Given the description of an element on the screen output the (x, y) to click on. 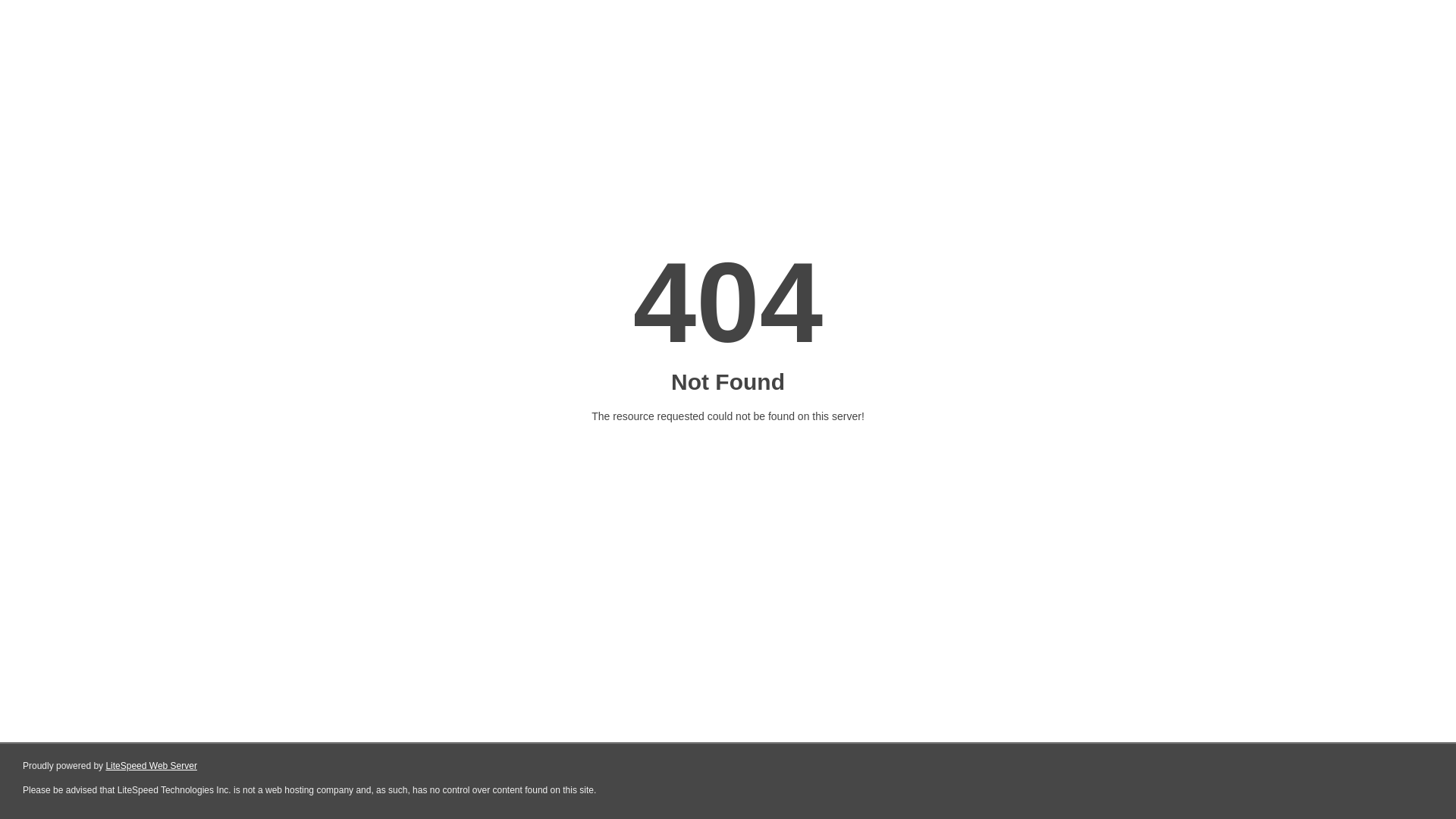
LiteSpeed Web Server Element type: text (151, 765)
